Given the description of an element on the screen output the (x, y) to click on. 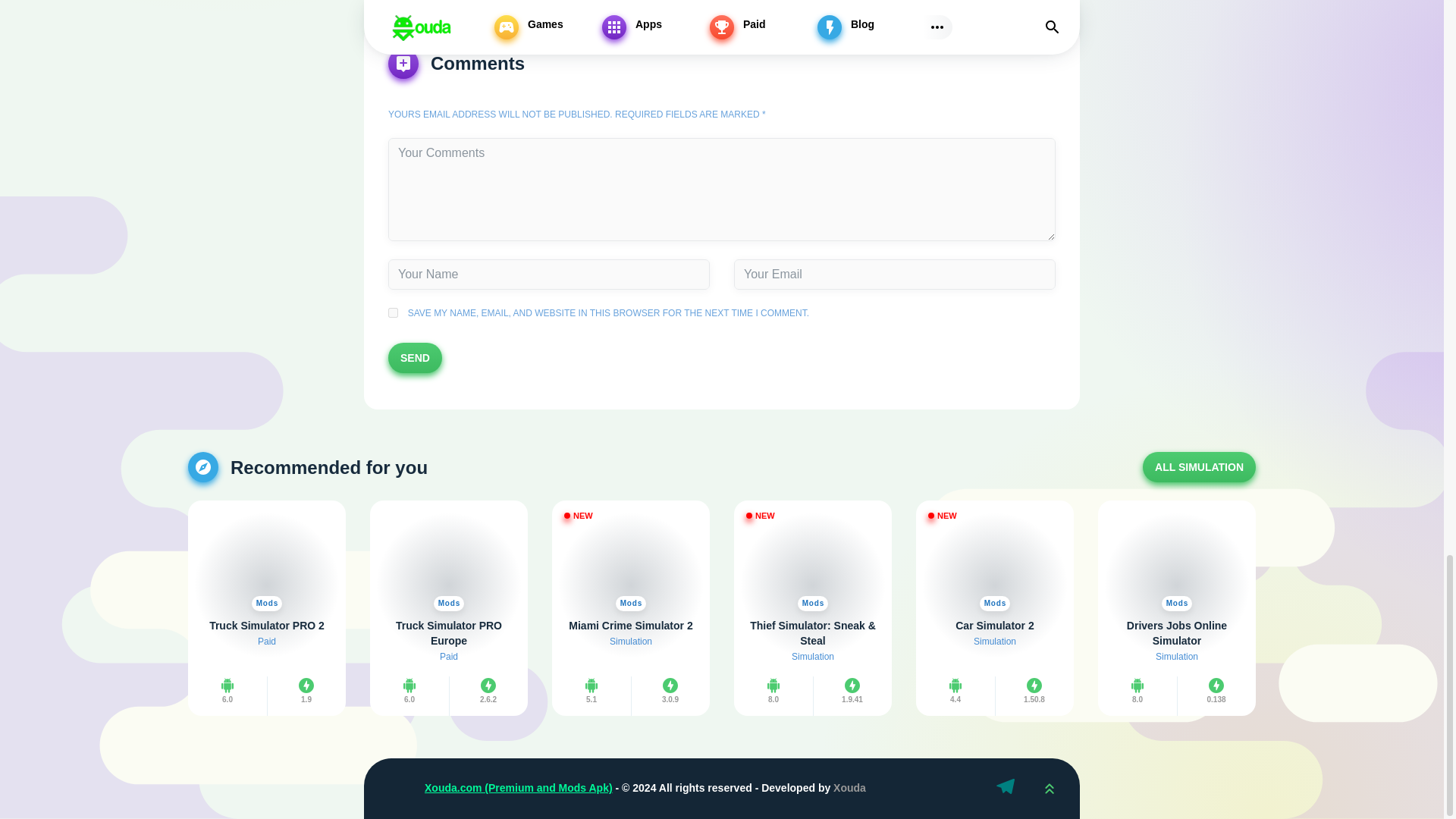
truck-simulator-pro-europe.png (449, 560)
yes (392, 312)
Xouda (393, 788)
truck-simulator-pro-2.png (266, 560)
Scroll up (1048, 788)
